Given the description of an element on the screen output the (x, y) to click on. 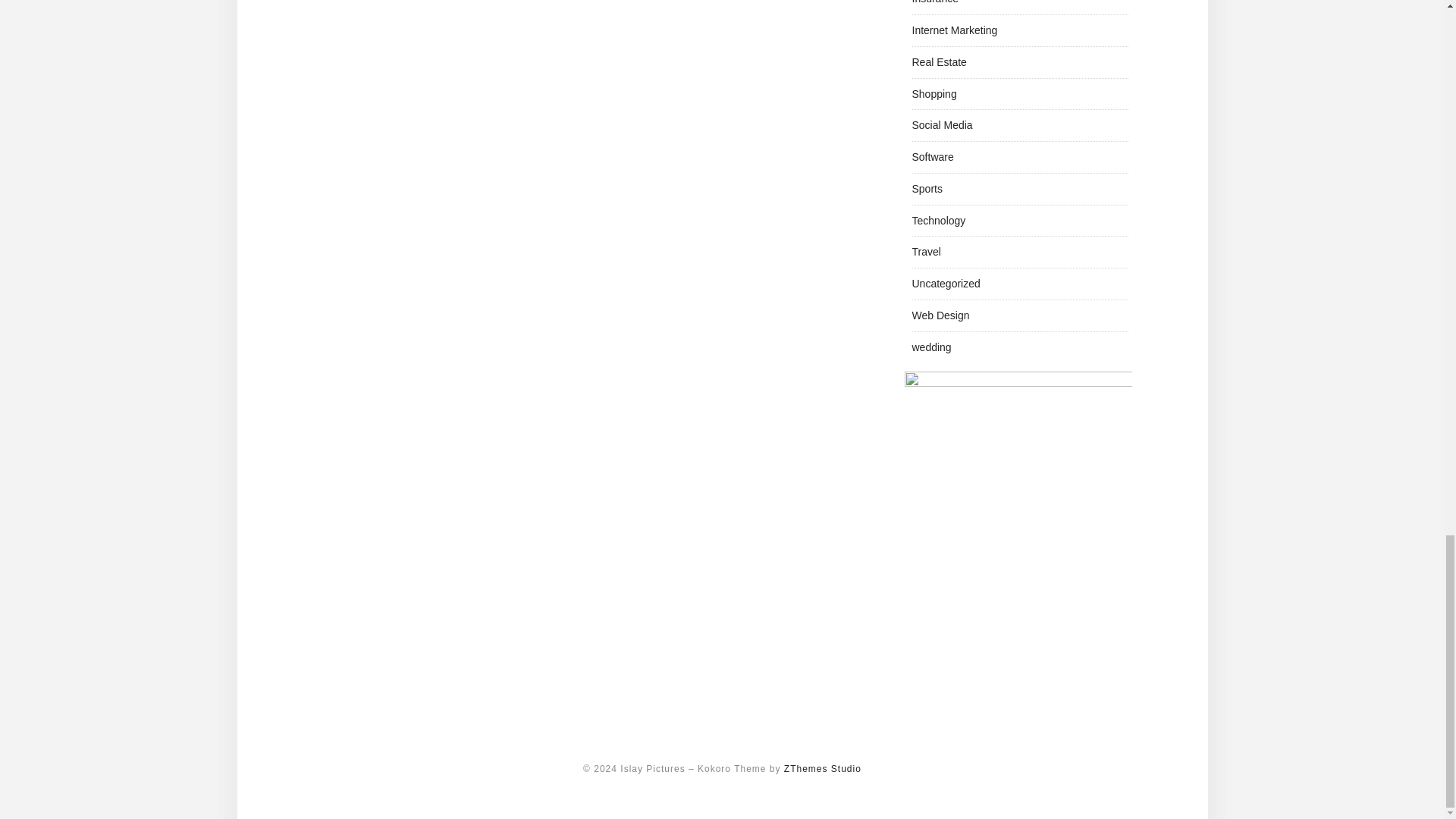
Shopping (933, 93)
Real Estate (938, 61)
Internet Marketing (954, 30)
Insurance (934, 2)
